Given the description of an element on the screen output the (x, y) to click on. 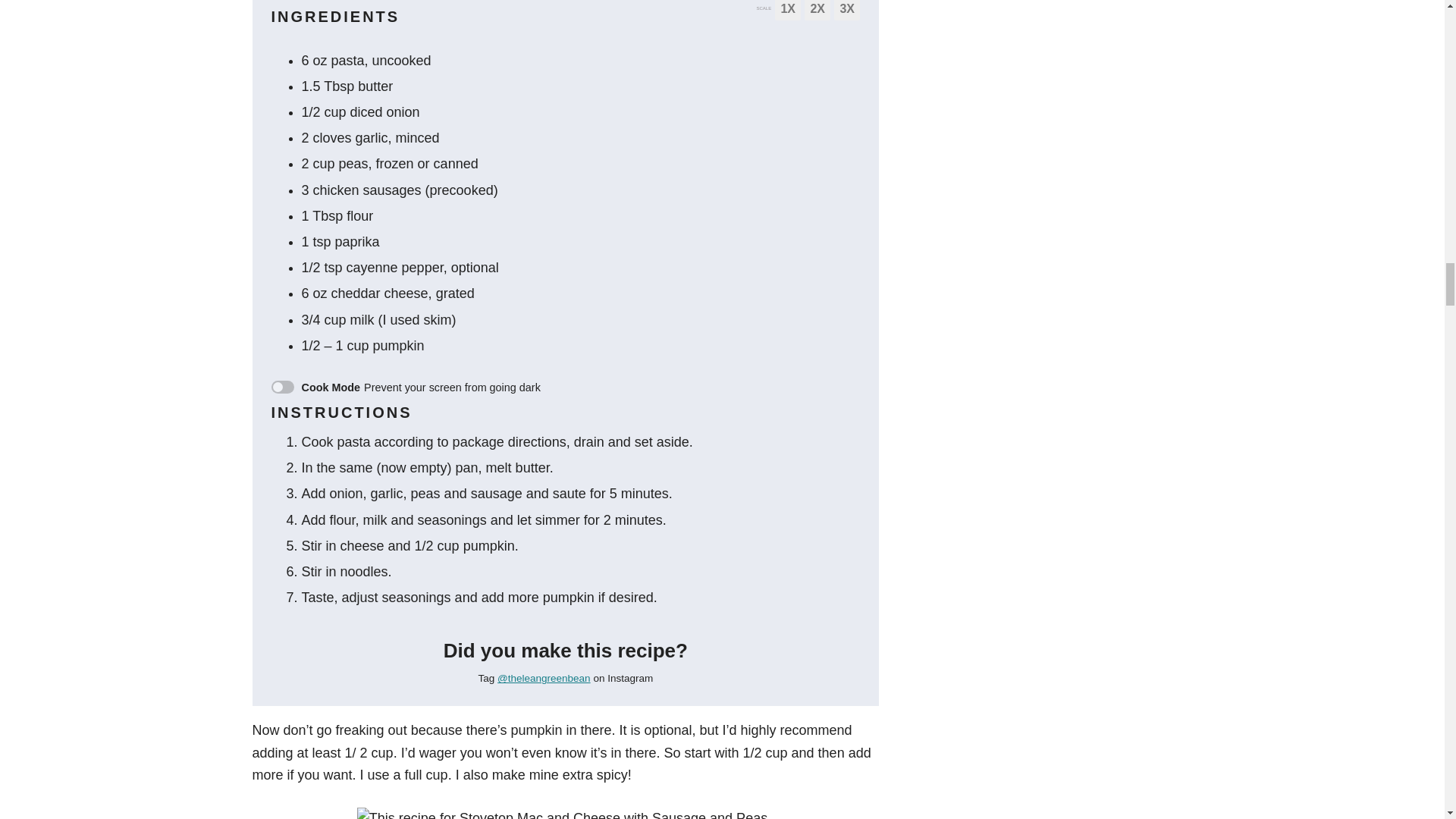
Stovetop Macaroni and Cheese with Sausage and Peas 10 (565, 813)
1X (787, 10)
